Given the description of an element on the screen output the (x, y) to click on. 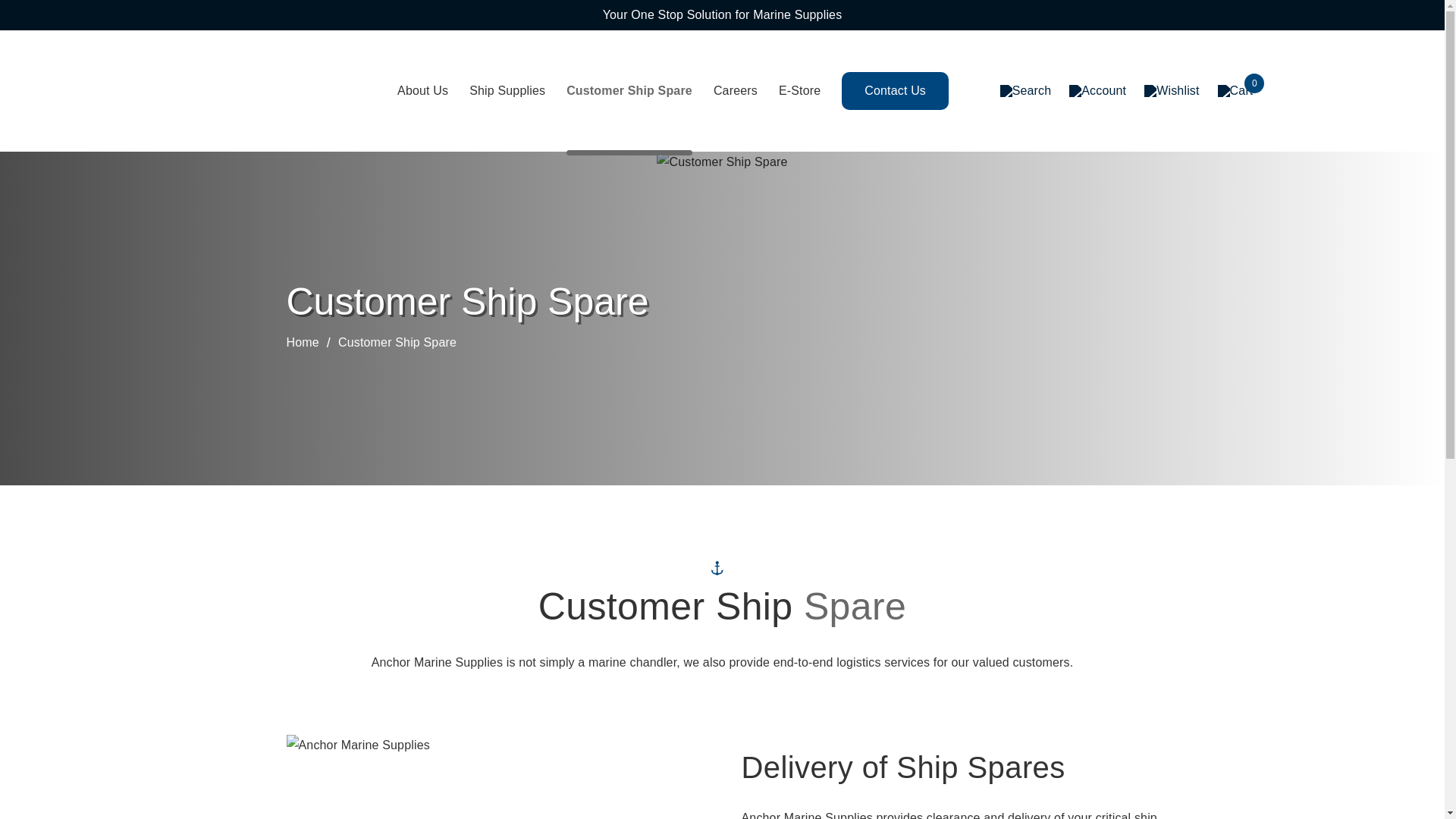
Contact Us (895, 90)
Wishlist (1171, 91)
Careers (735, 90)
Account (1096, 91)
0 (1235, 91)
Cart (1235, 91)
Home (312, 342)
E-Store (799, 90)
Customer Ship Spare (629, 90)
Ship Supplies (506, 90)
About Us (422, 90)
Search (1025, 91)
